Given the description of an element on the screen output the (x, y) to click on. 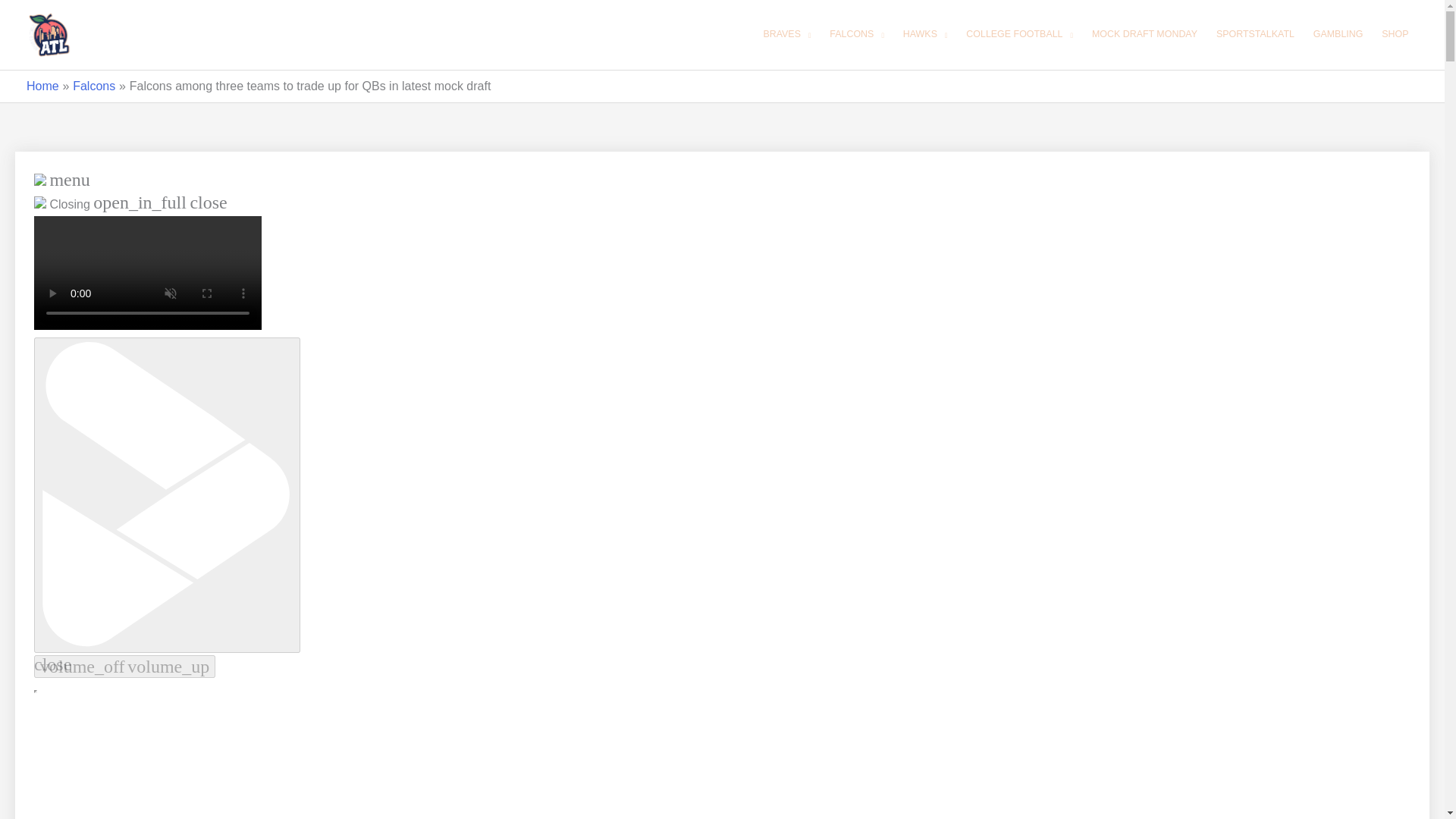
FALCONS (857, 34)
HAWKS (924, 34)
MOCK DRAFT MONDAY (1144, 34)
BRAVES (787, 34)
SPORTSTALKATL (1255, 34)
COLLEGE FOOTBALL (1019, 34)
GAMBLING (1338, 34)
